Given the description of an element on the screen output the (x, y) to click on. 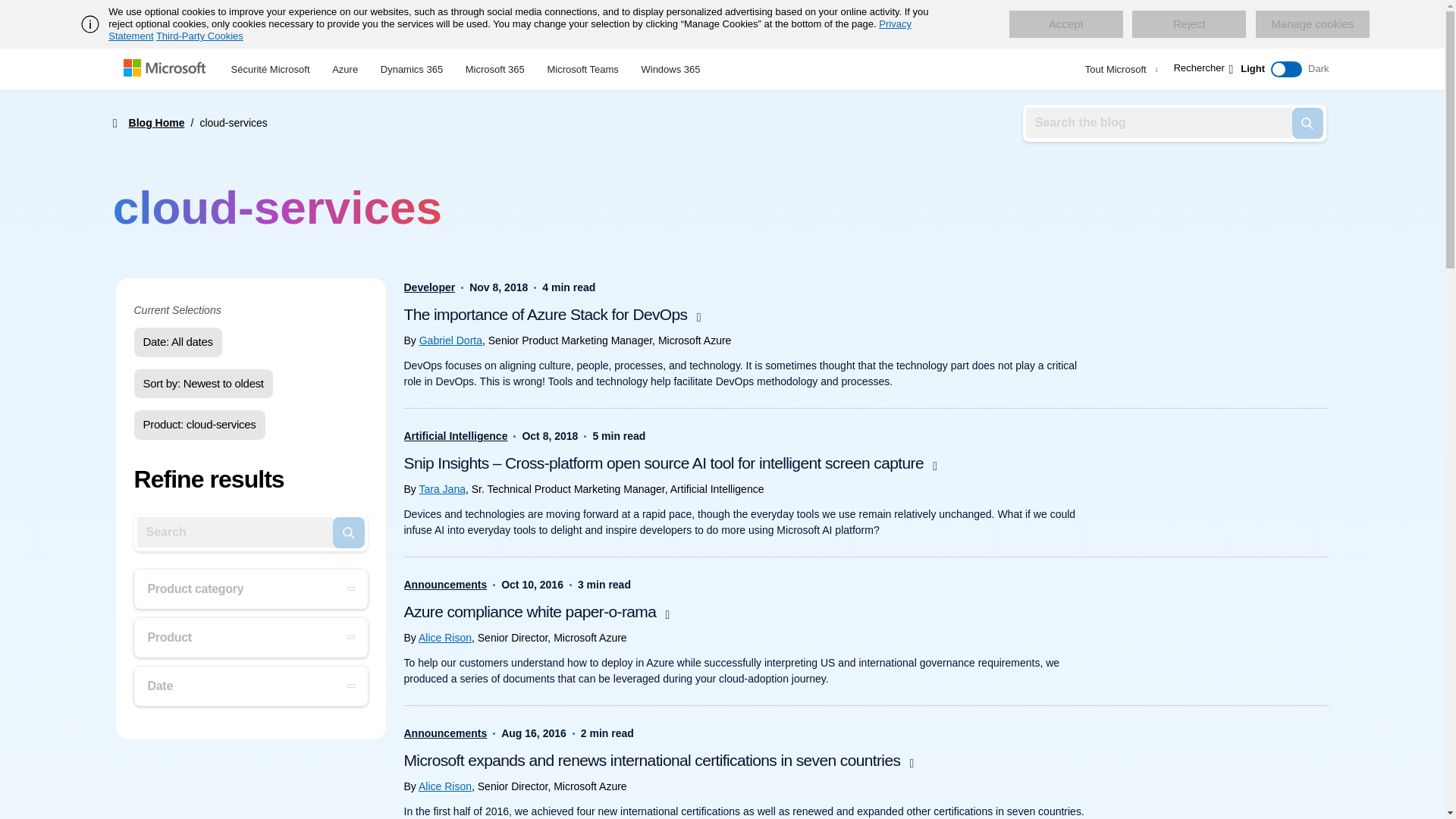
Third-Party Cookies (199, 35)
Dynamics 365 (411, 67)
Tout Microsoft (1119, 69)
Azure (344, 67)
Microsoft Teams (582, 67)
Manage cookies (1312, 23)
Microsoft 365 (494, 67)
Windows 365 (669, 67)
Accept (1065, 23)
Reject (1189, 23)
